Given the description of an element on the screen output the (x, y) to click on. 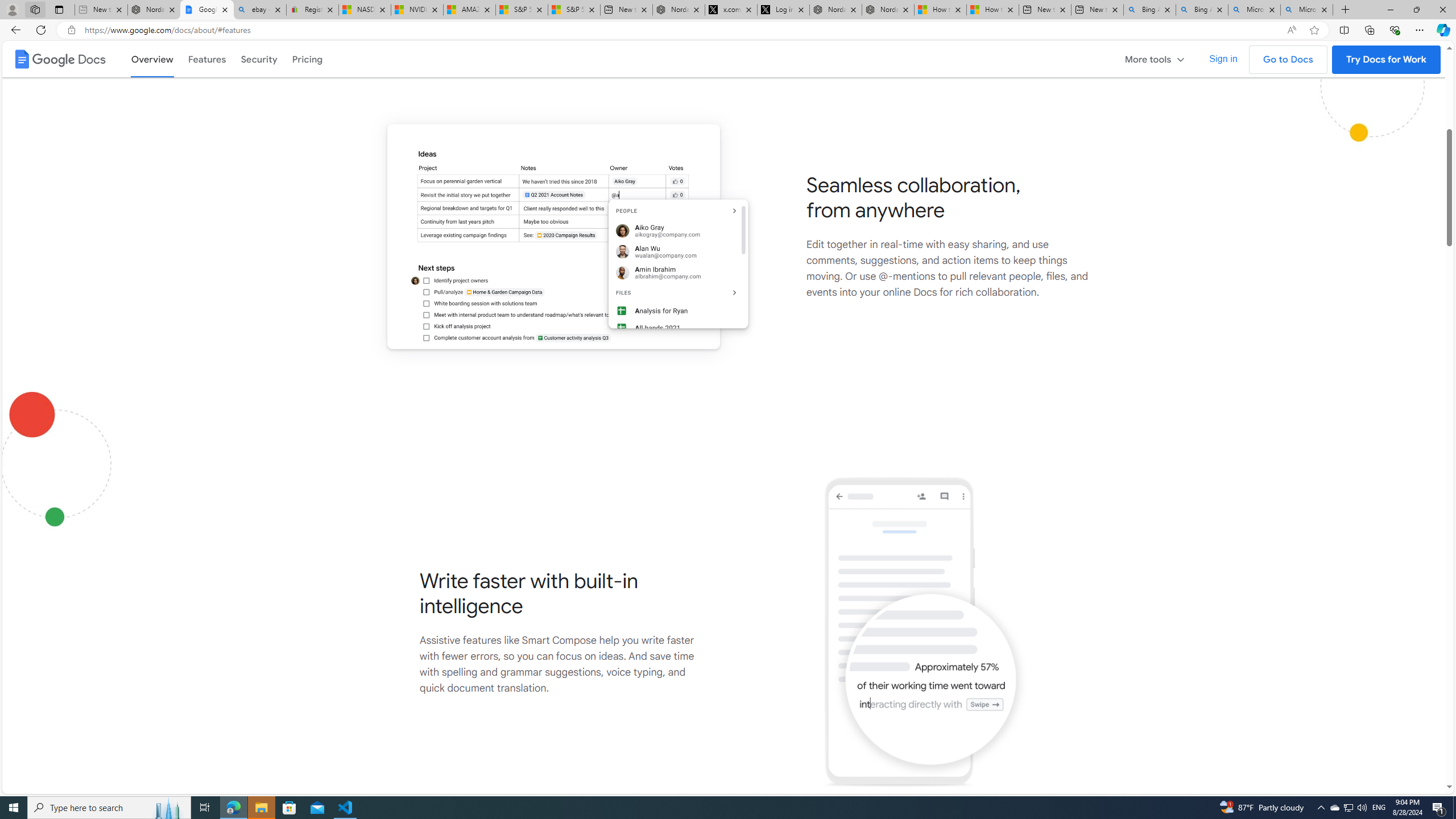
Google Docs: Online Document Editor | Google Workspace (207, 9)
Microsoft Bing Timeline - Search (1306, 9)
Docs write faster (924, 631)
See what you can do with Google Docs (723, 37)
